Given the description of an element on the screen output the (x, y) to click on. 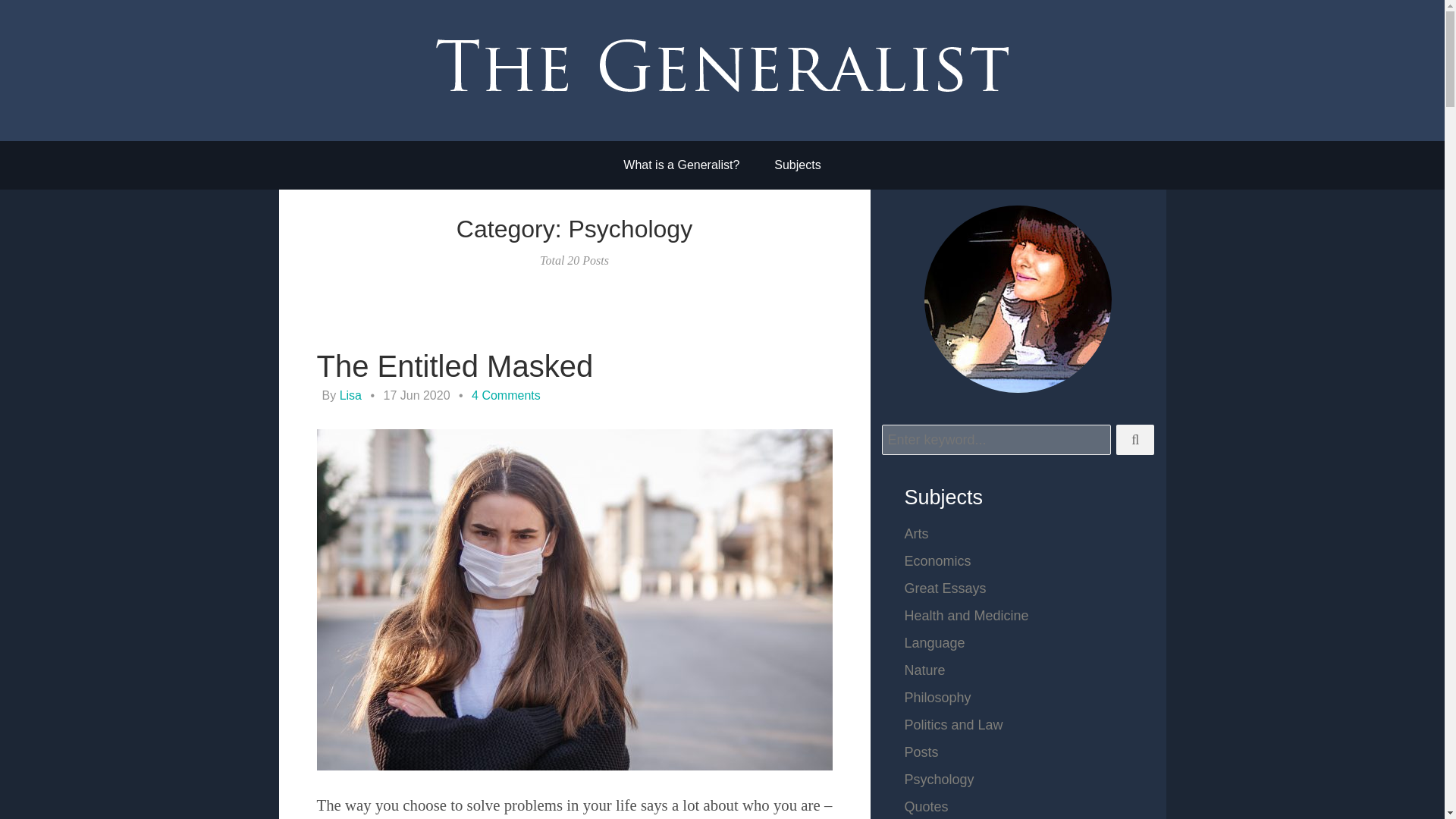
The Entitled Masked (455, 366)
4 Comments (505, 395)
Subjects (796, 164)
What is a Generalist? (681, 164)
Posts by Lisa (350, 395)
Lisa (350, 395)
